Given the description of an element on the screen output the (x, y) to click on. 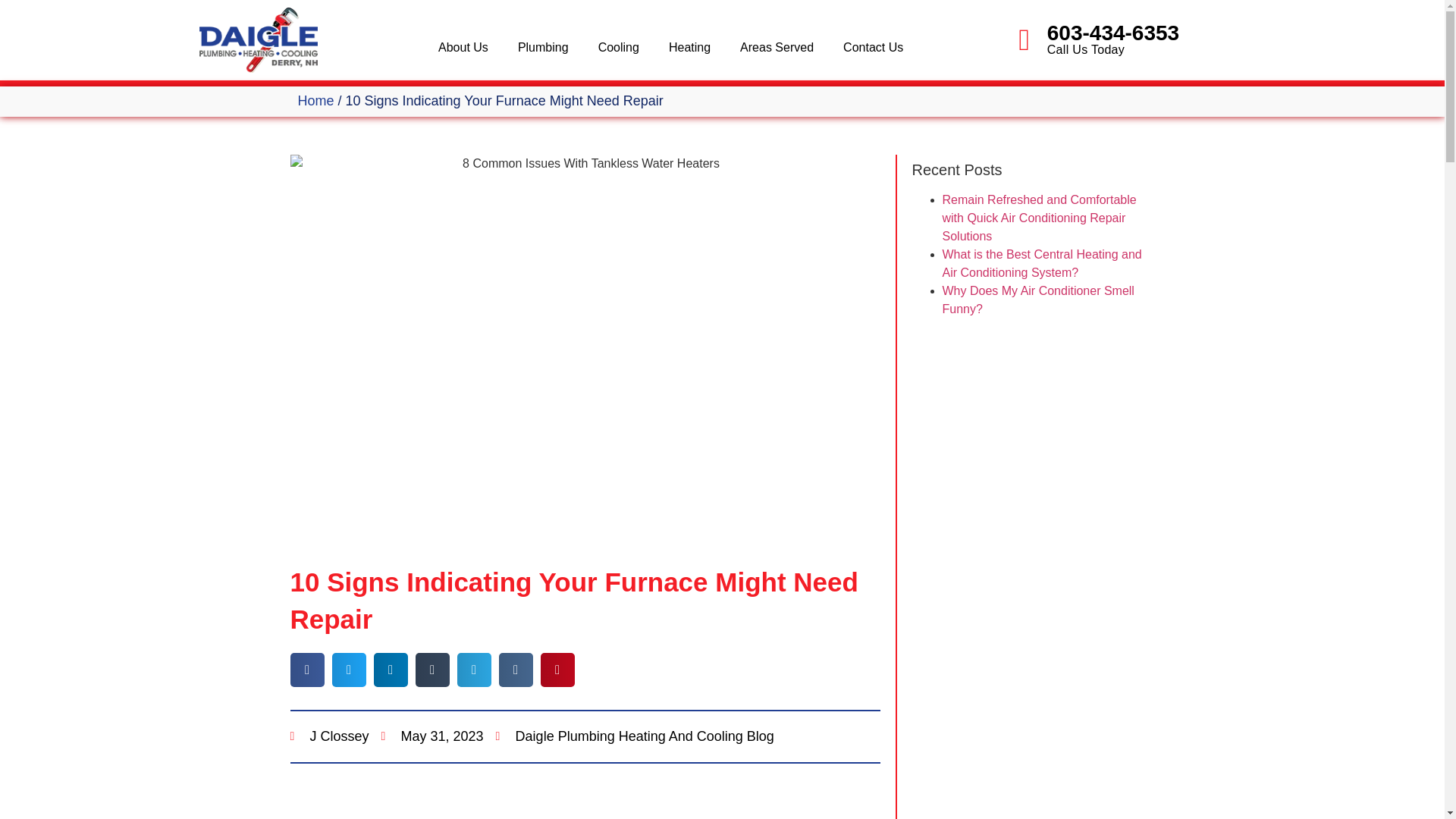
Contact Us (873, 47)
Areas Served (782, 47)
Heating (694, 47)
About Us (468, 47)
Cooling (624, 47)
Plumbing (548, 47)
